Given the description of an element on the screen output the (x, y) to click on. 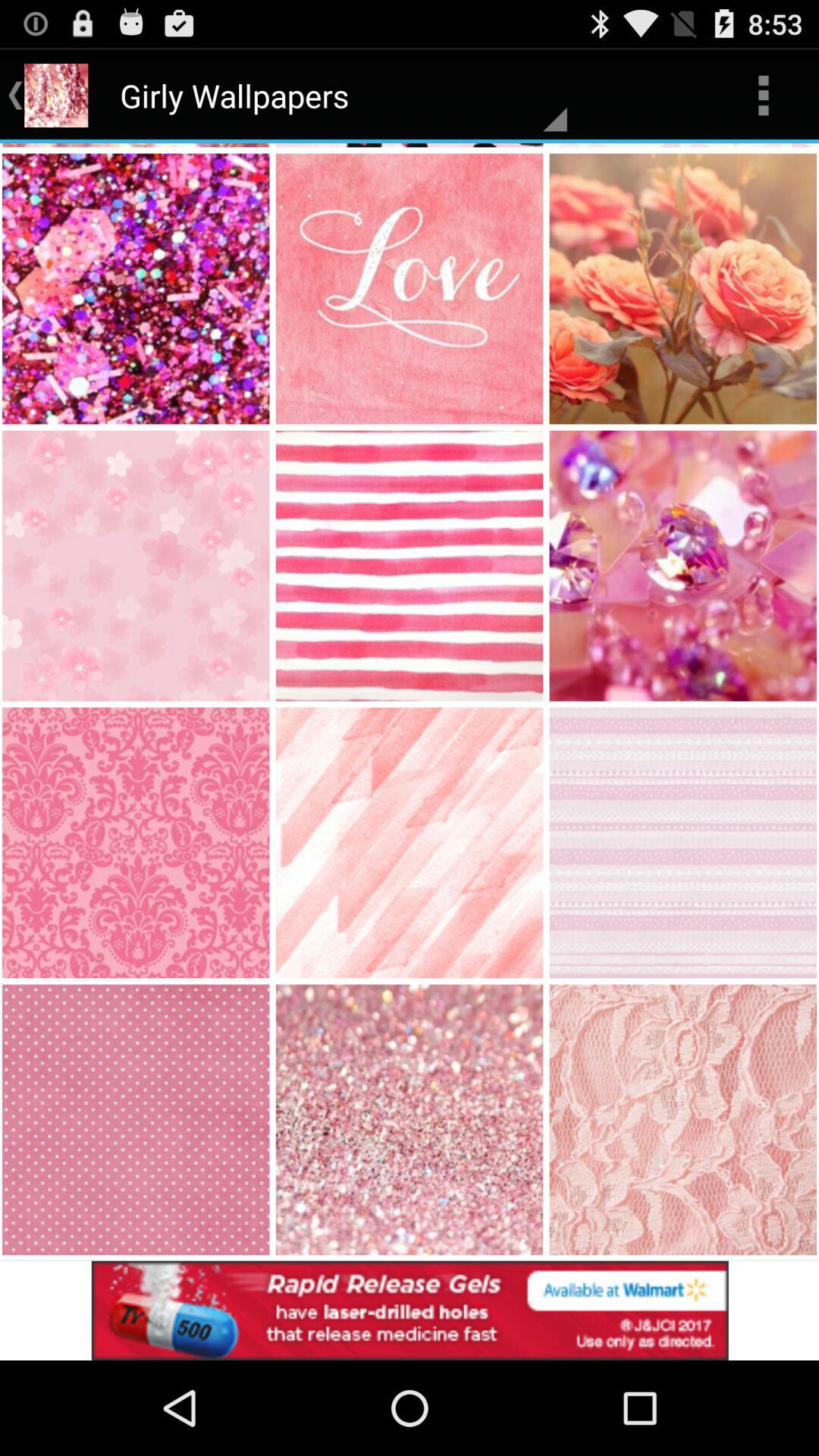
advertisement for walmart (409, 1310)
